Given the description of an element on the screen output the (x, y) to click on. 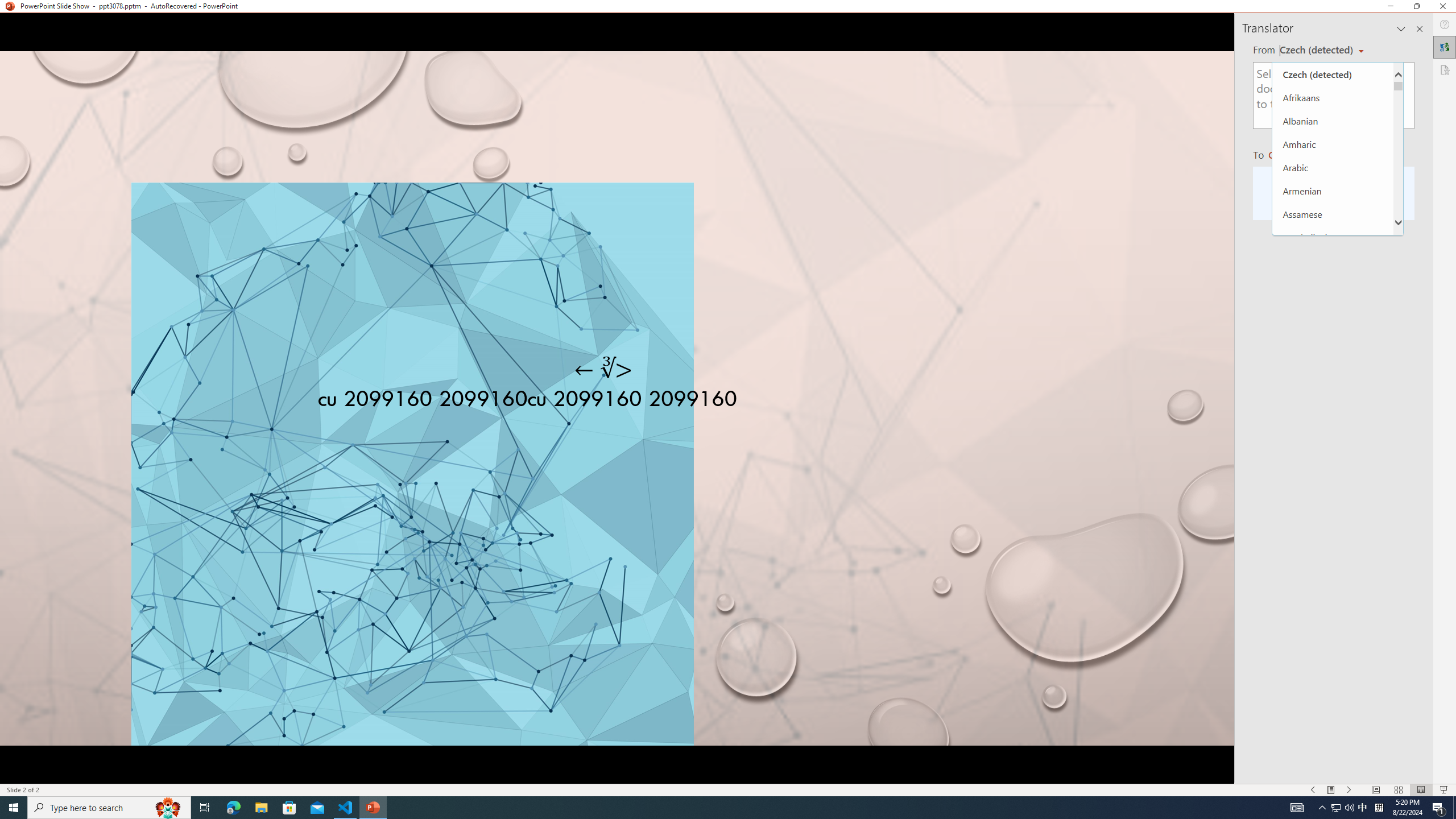
Transformer Circuits Thread (713, 78)
Class: c01179 (79, 212)
Edge (153, 46)
